Given the description of an element on the screen output the (x, y) to click on. 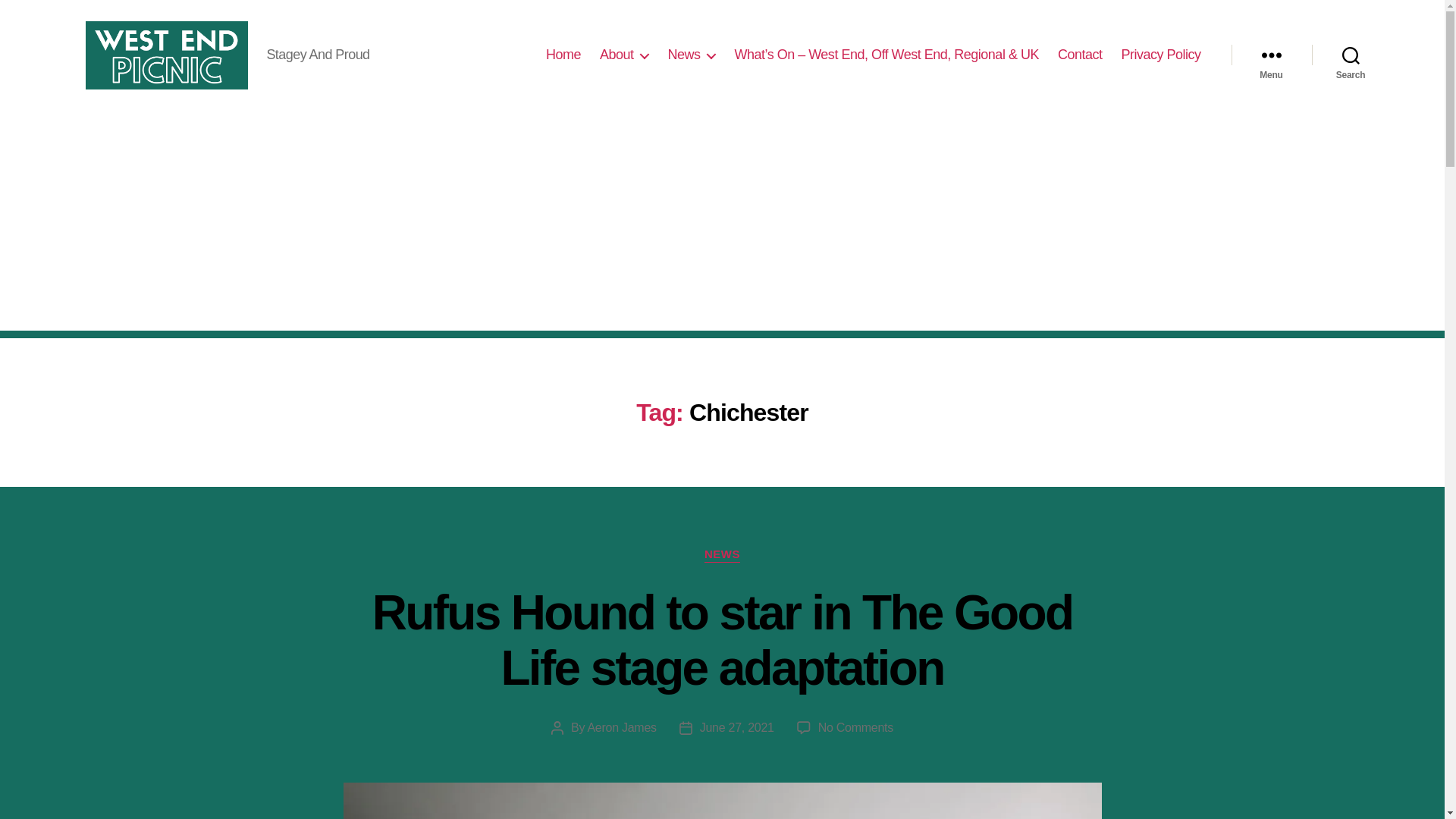
Search (1350, 55)
Home (563, 54)
News (690, 54)
Contact (1080, 54)
About (624, 54)
Privacy Policy (1160, 54)
Menu (1271, 55)
